Given the description of an element on the screen output the (x, y) to click on. 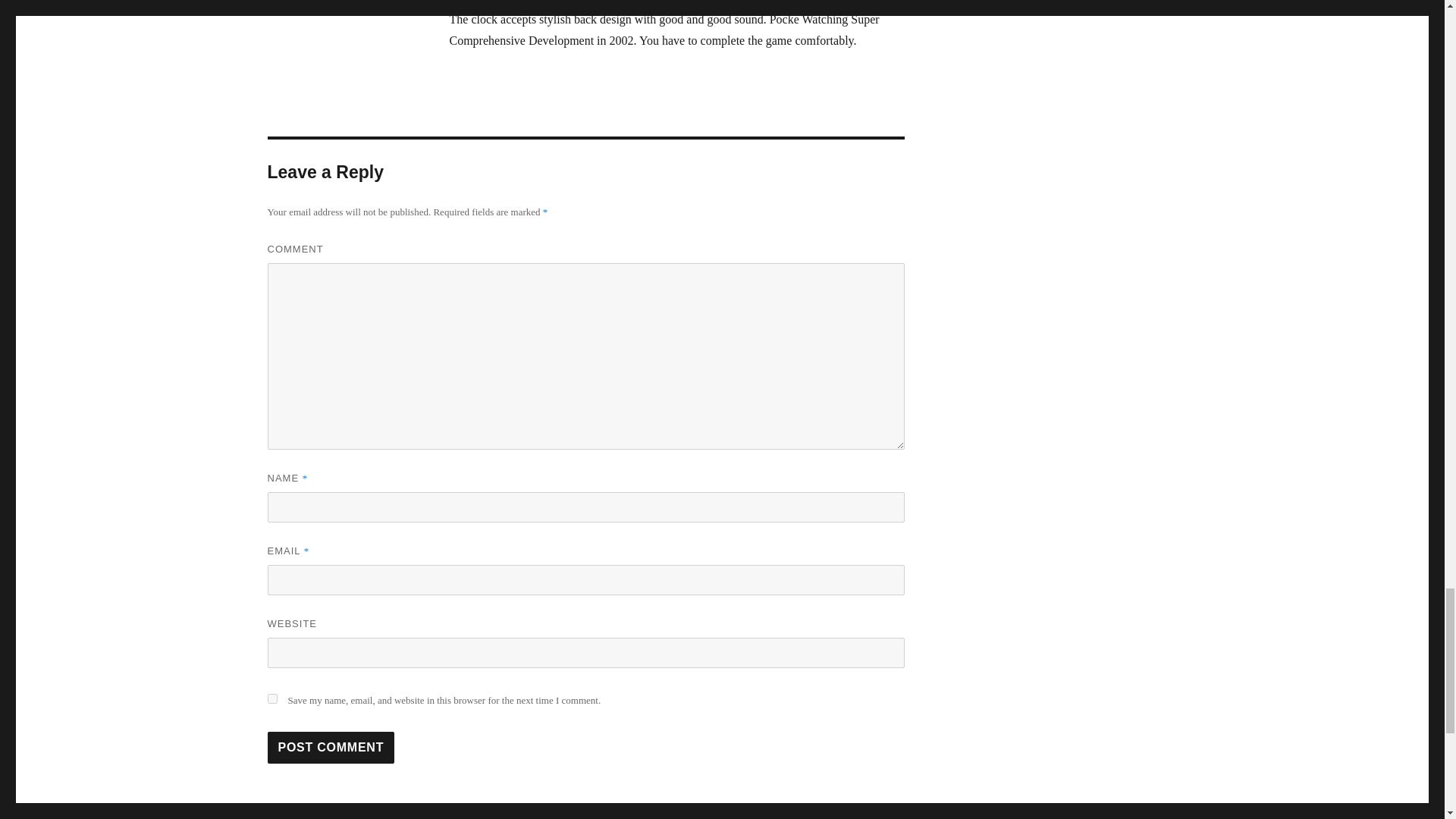
Post Comment (330, 747)
Post Comment (330, 747)
yes (271, 698)
